Given the description of an element on the screen output the (x, y) to click on. 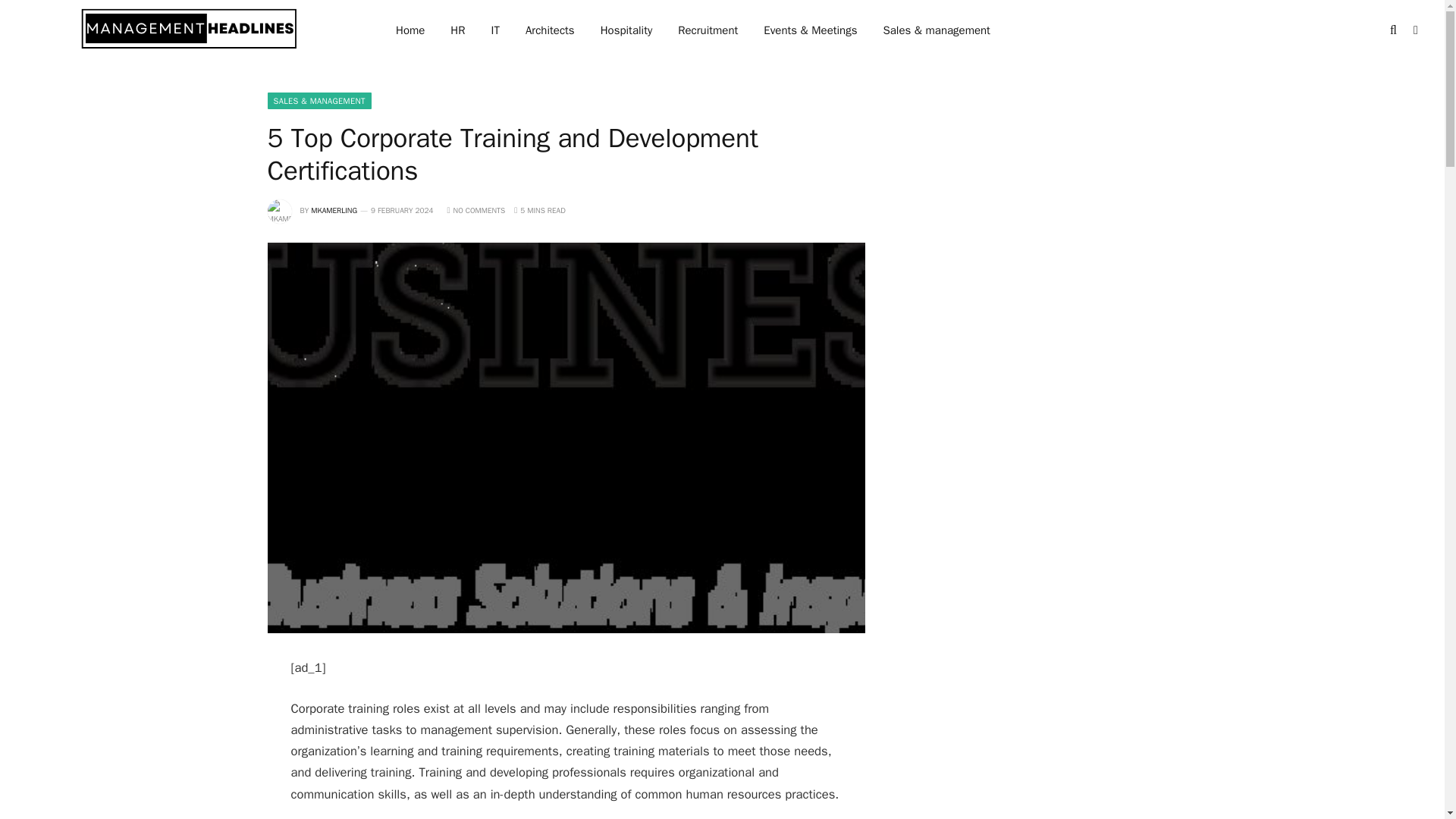
Hospitality (626, 30)
Posts by Mkamerling (333, 210)
Recruitment (708, 30)
Home (410, 30)
Management Headlines (189, 31)
Switch to Dark Design - easier on eyes. (1414, 30)
NO COMMENTS (475, 210)
Architects (550, 30)
MKAMERLING (333, 210)
